Given the description of an element on the screen output the (x, y) to click on. 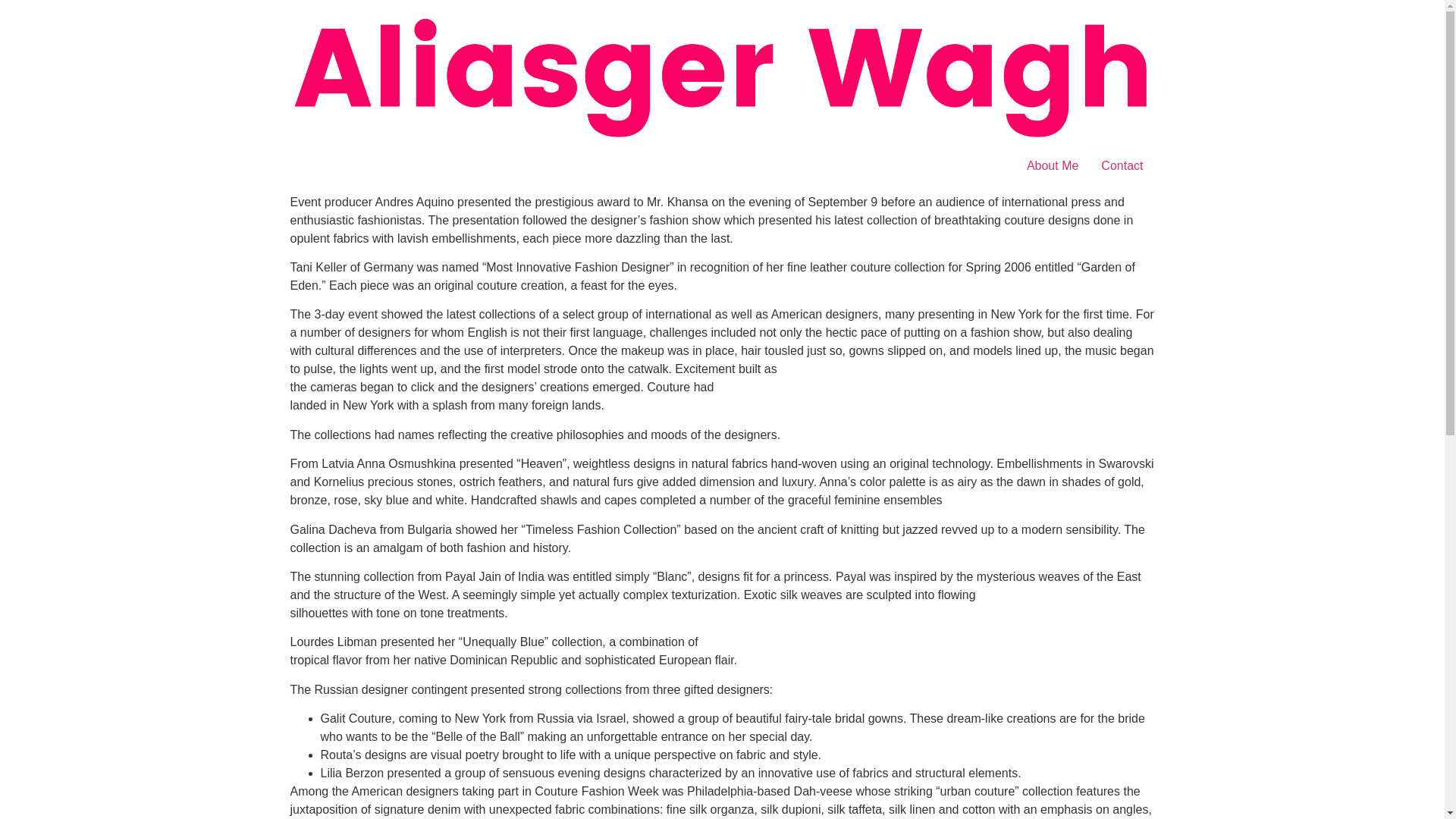
Contact (1121, 165)
About Me (1051, 165)
